Given the description of an element on the screen output the (x, y) to click on. 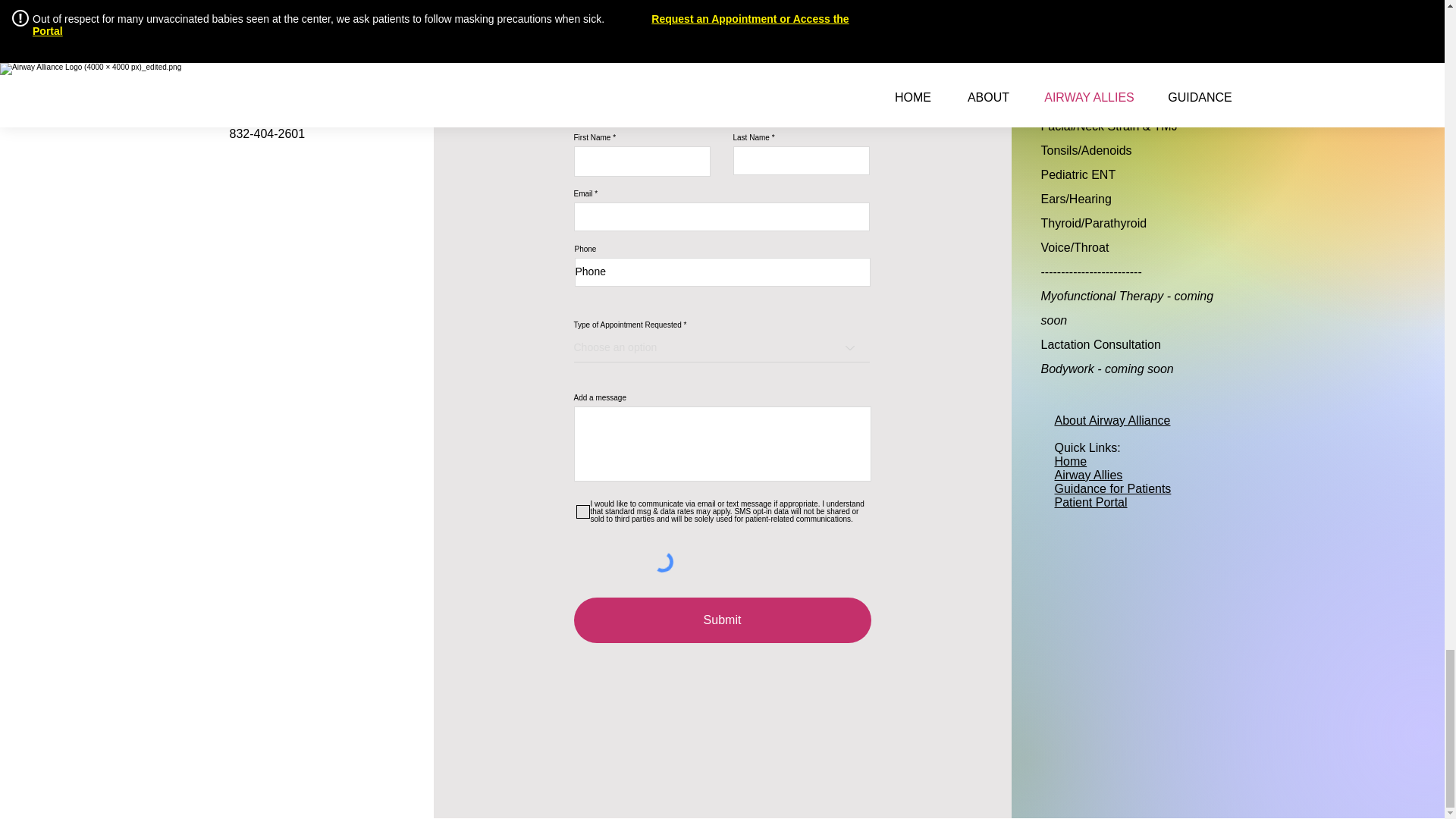
Guidance for Patients (1112, 488)
About Airway Alliance (1112, 420)
Airway Allies (1088, 474)
Submit (721, 619)
Home (1070, 461)
Patient Portal (1090, 502)
